Given the description of an element on the screen output the (x, y) to click on. 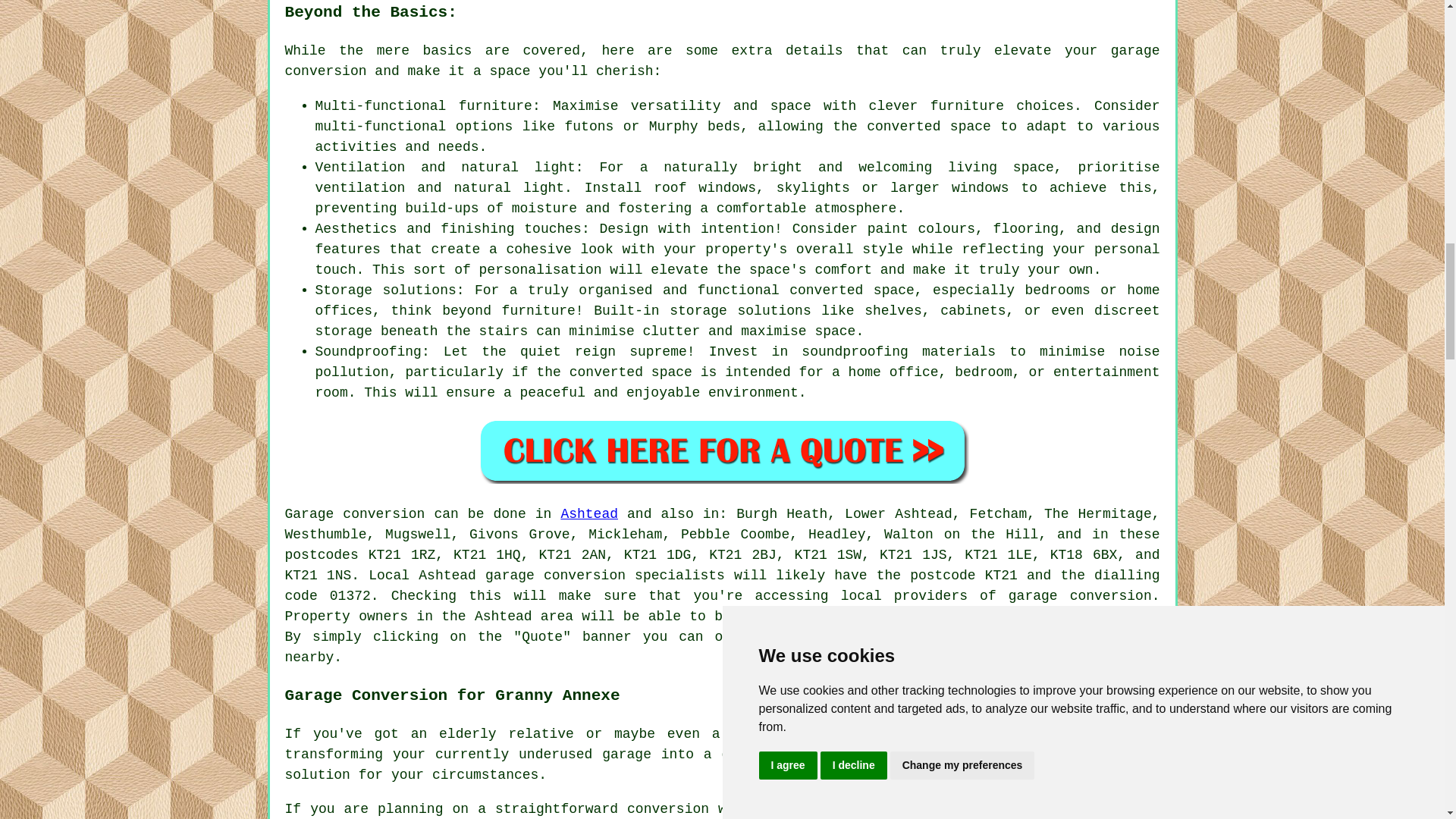
garage conversion specialists (604, 575)
garage conversion (722, 60)
garage conversion (1080, 595)
Garage (309, 513)
